Given the description of an element on the screen output the (x, y) to click on. 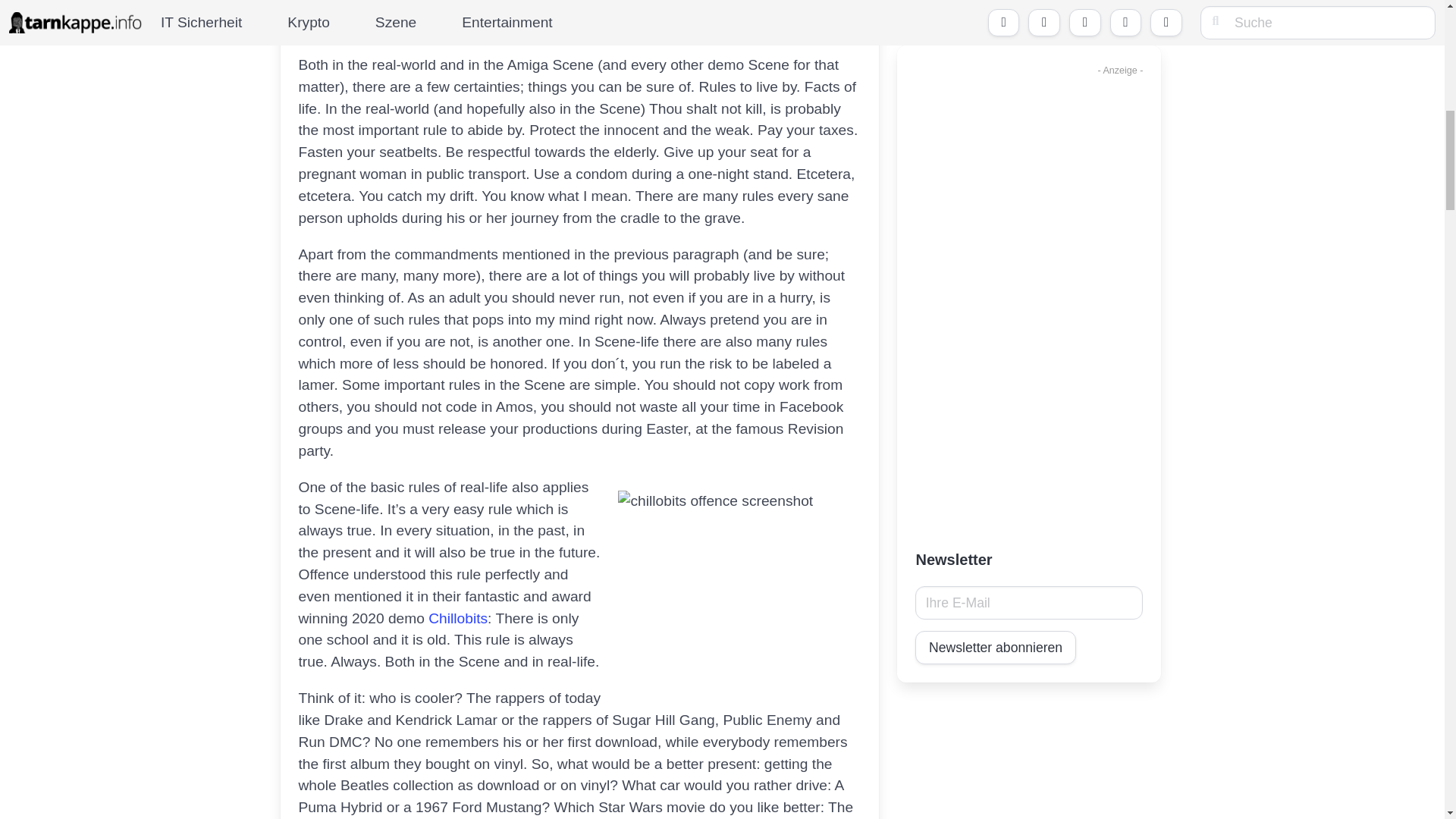
Chillobits (457, 618)
